Given the description of an element on the screen output the (x, y) to click on. 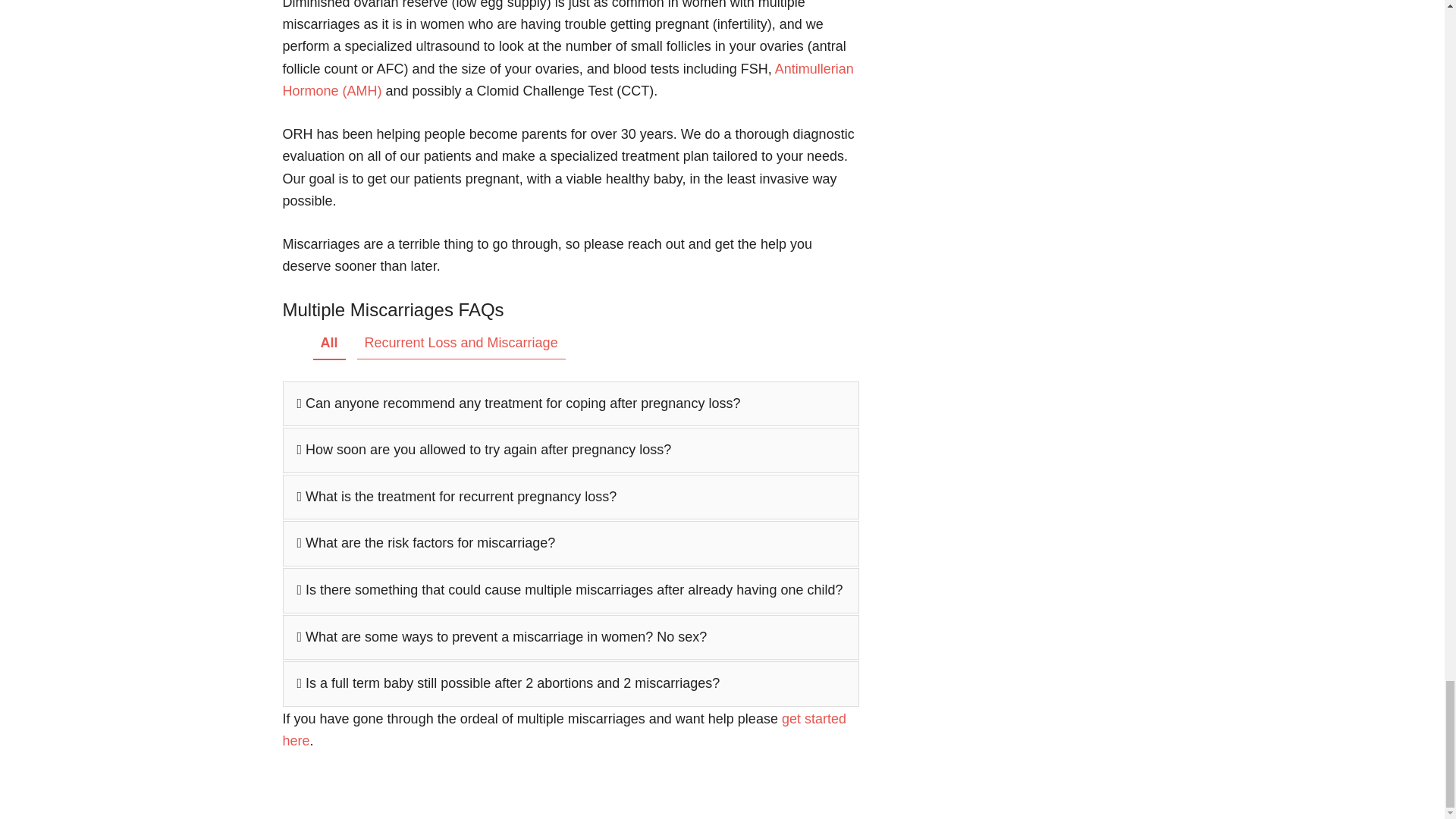
Getting Started (563, 729)
